Given the description of an element on the screen output the (x, y) to click on. 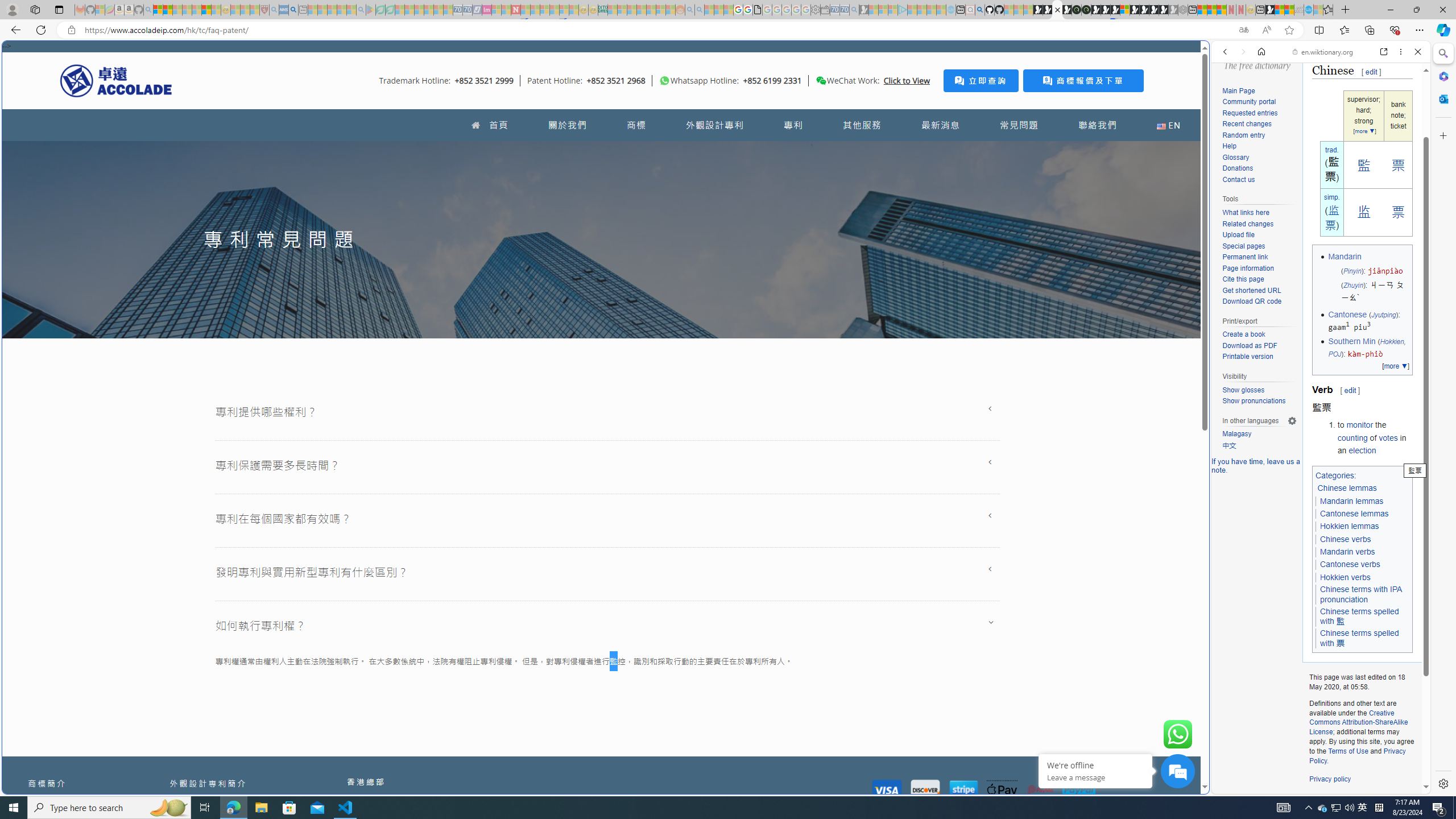
Permanent link (1244, 257)
Chinese terms with IPA pronunciation (1362, 594)
Terms of Use (1347, 750)
